Given the description of an element on the screen output the (x, y) to click on. 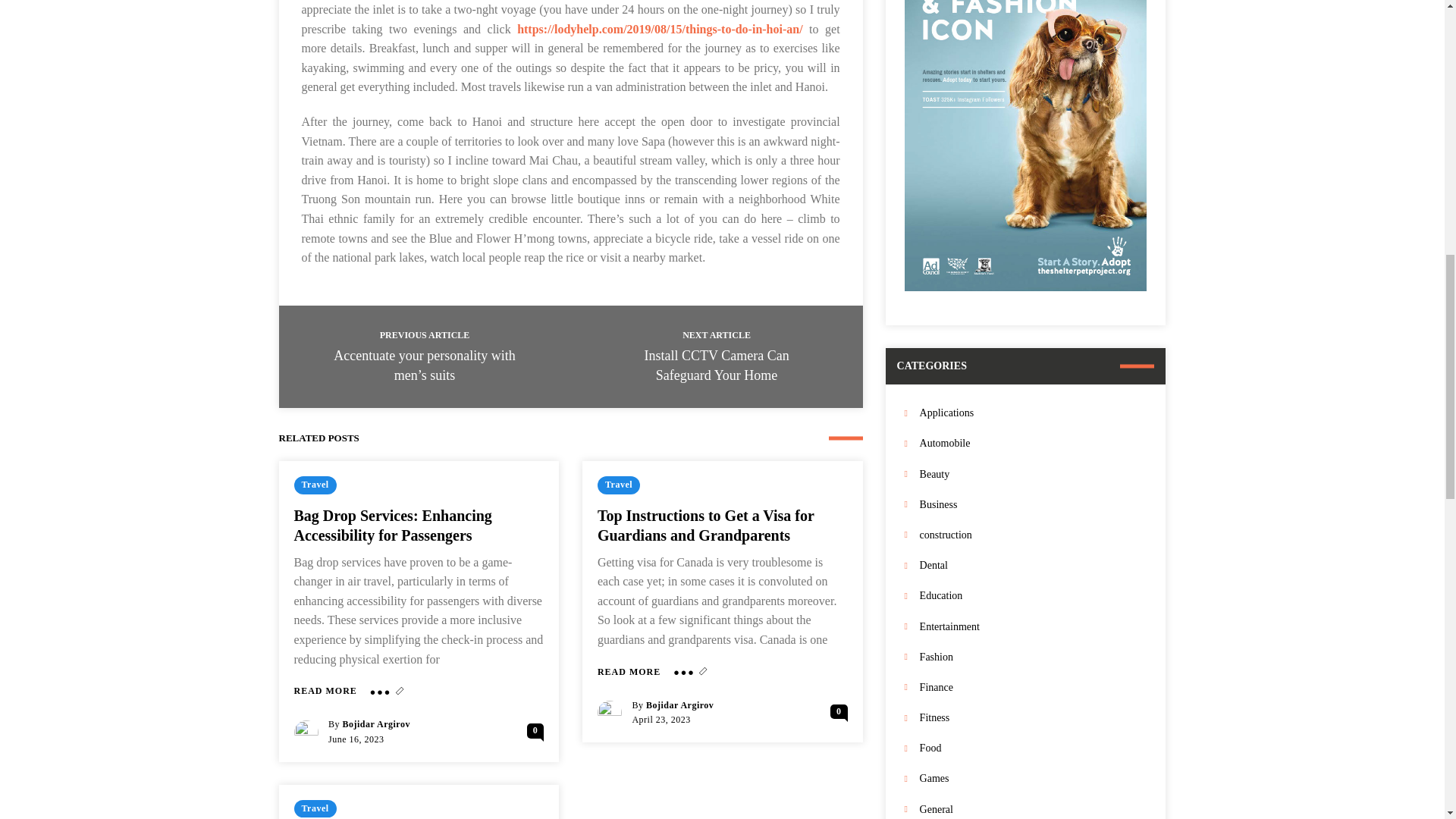
0 (535, 730)
Bag Drop Services: Enhancing Accessibility for Passengers (325, 690)
Posts by Bojidar Argirov (376, 724)
Bag Drop Services: Enhancing Accessibility for Passengers (393, 524)
April 23, 2023 (660, 719)
Travel (315, 484)
Bojidar Argirov (679, 705)
